Given the description of an element on the screen output the (x, y) to click on. 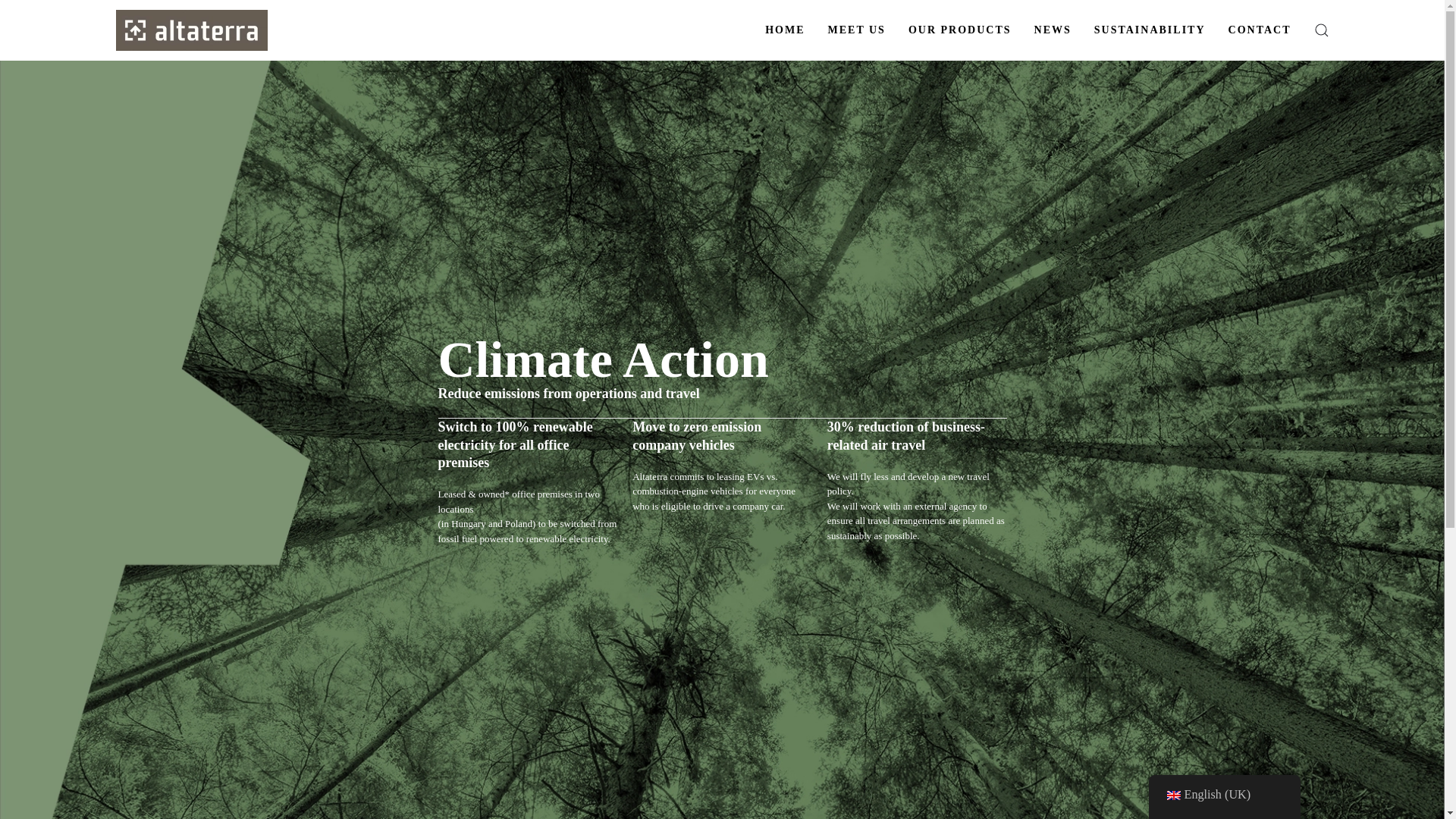
CONTACT (1259, 30)
OUR PRODUCTS (959, 30)
SUSTAINABILITY (1149, 30)
MEET US (856, 30)
